Given the description of an element on the screen output the (x, y) to click on. 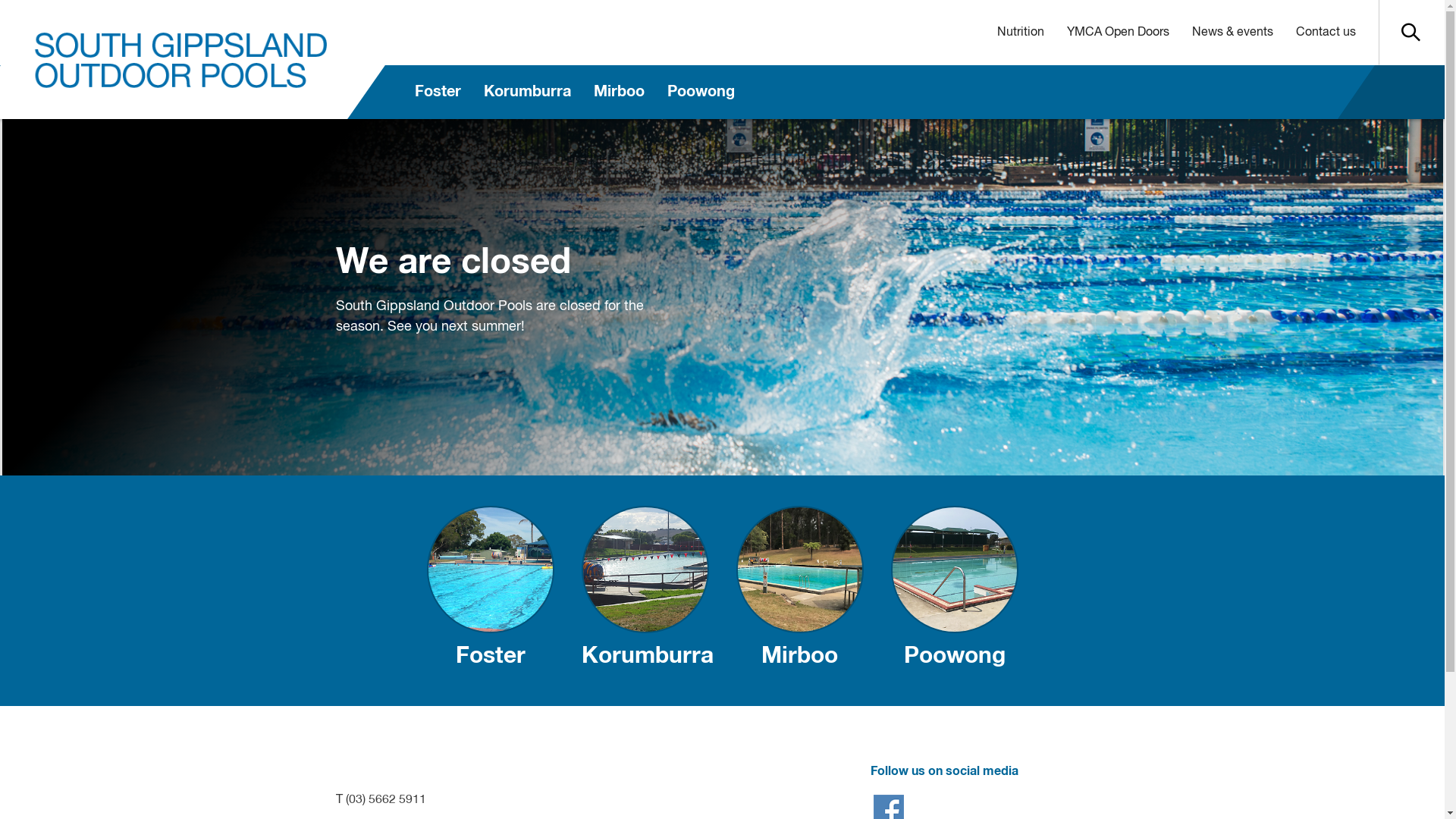
Poowong Element type: text (953, 590)
Foster Element type: text (489, 590)
Mirboo Element type: text (798, 590)
Contact us Element type: text (1325, 32)
Foster Element type: text (437, 92)
Nutrition Element type: text (1020, 32)
Poowong Element type: text (700, 92)
Mirboo Element type: text (618, 92)
News & events Element type: text (1231, 32)
Korumburra Element type: text (644, 590)
YMCA Open Doors Element type: text (1117, 32)
Korumburra Element type: text (527, 92)
